Given the description of an element on the screen output the (x, y) to click on. 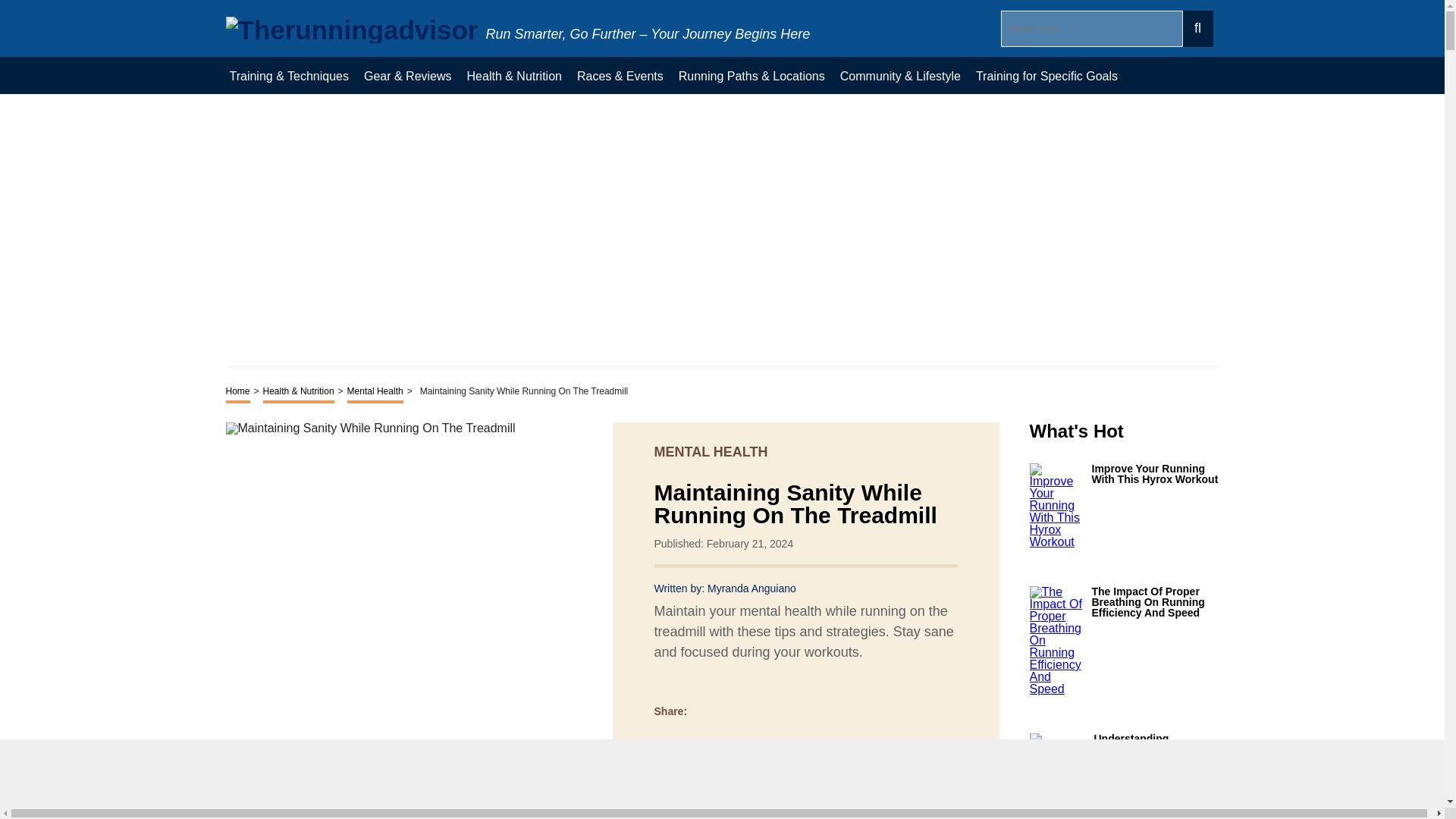
Training for Specific Goals (1046, 74)
